Given the description of an element on the screen output the (x, y) to click on. 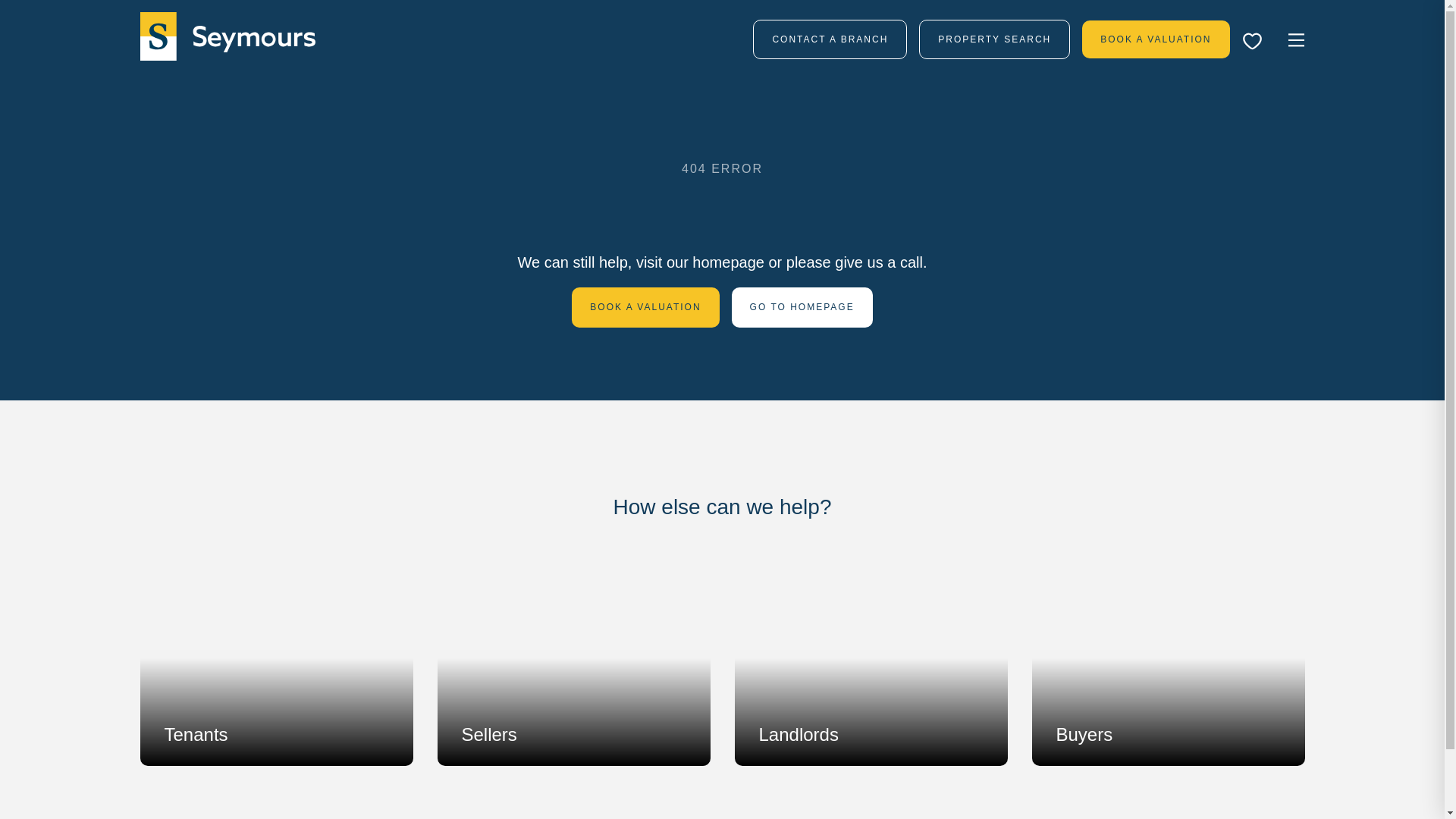
BOOK A VALUATION (1154, 38)
CONTACT A BRANCH (829, 38)
PROPERTY SEARCH (994, 38)
BOOK A VALUATION (645, 307)
GO TO HOMEPAGE (802, 307)
